Given the description of an element on the screen output the (x, y) to click on. 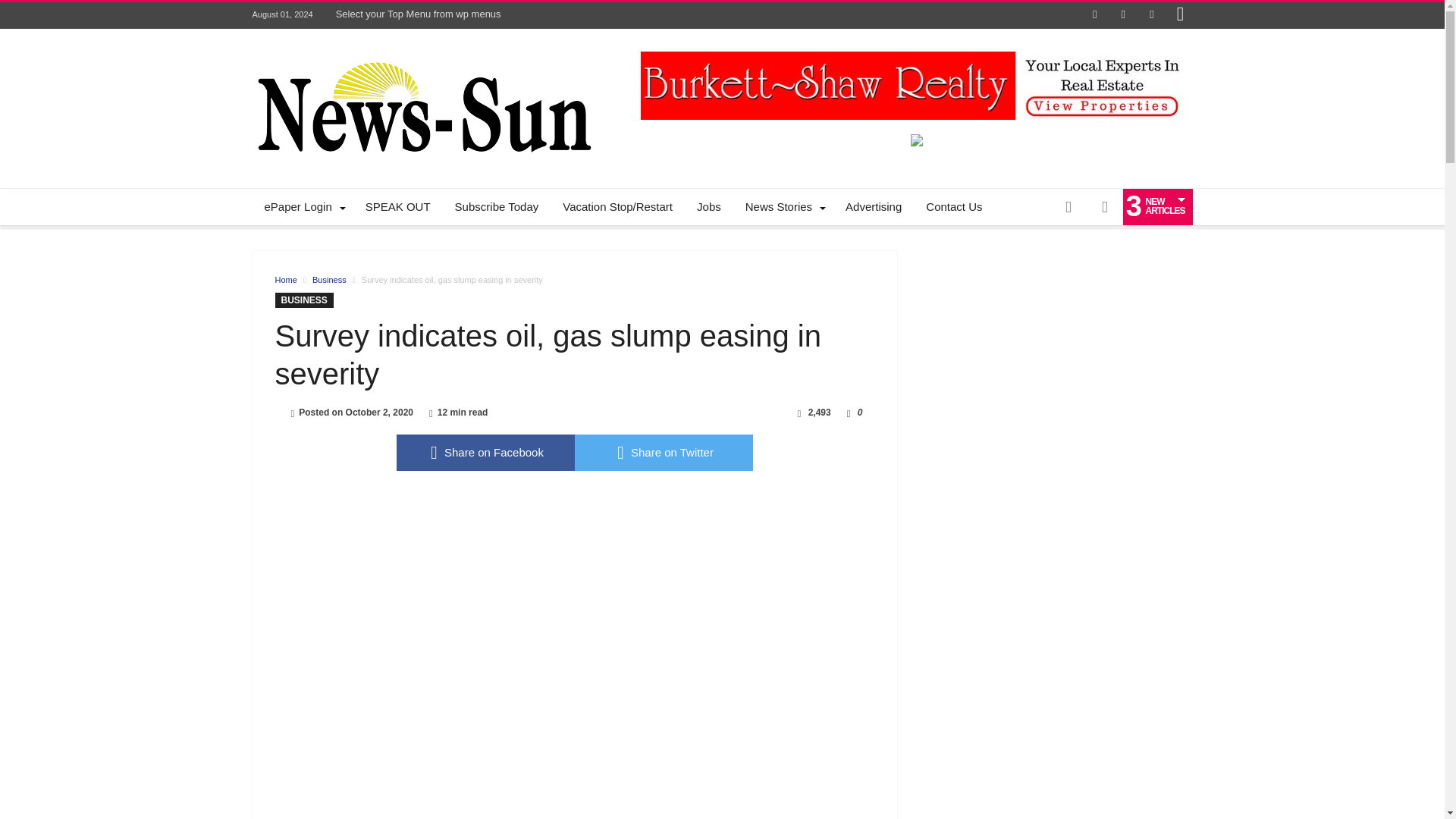
News Stories (782, 207)
ePaper Login (301, 207)
Business (329, 279)
Random Article (1067, 207)
Share on Facebook (484, 452)
Home (286, 279)
twitter (663, 452)
Subscribe Today (496, 207)
Hobbs News Sun (421, 50)
Twitter (1122, 15)
